Given the description of an element on the screen output the (x, y) to click on. 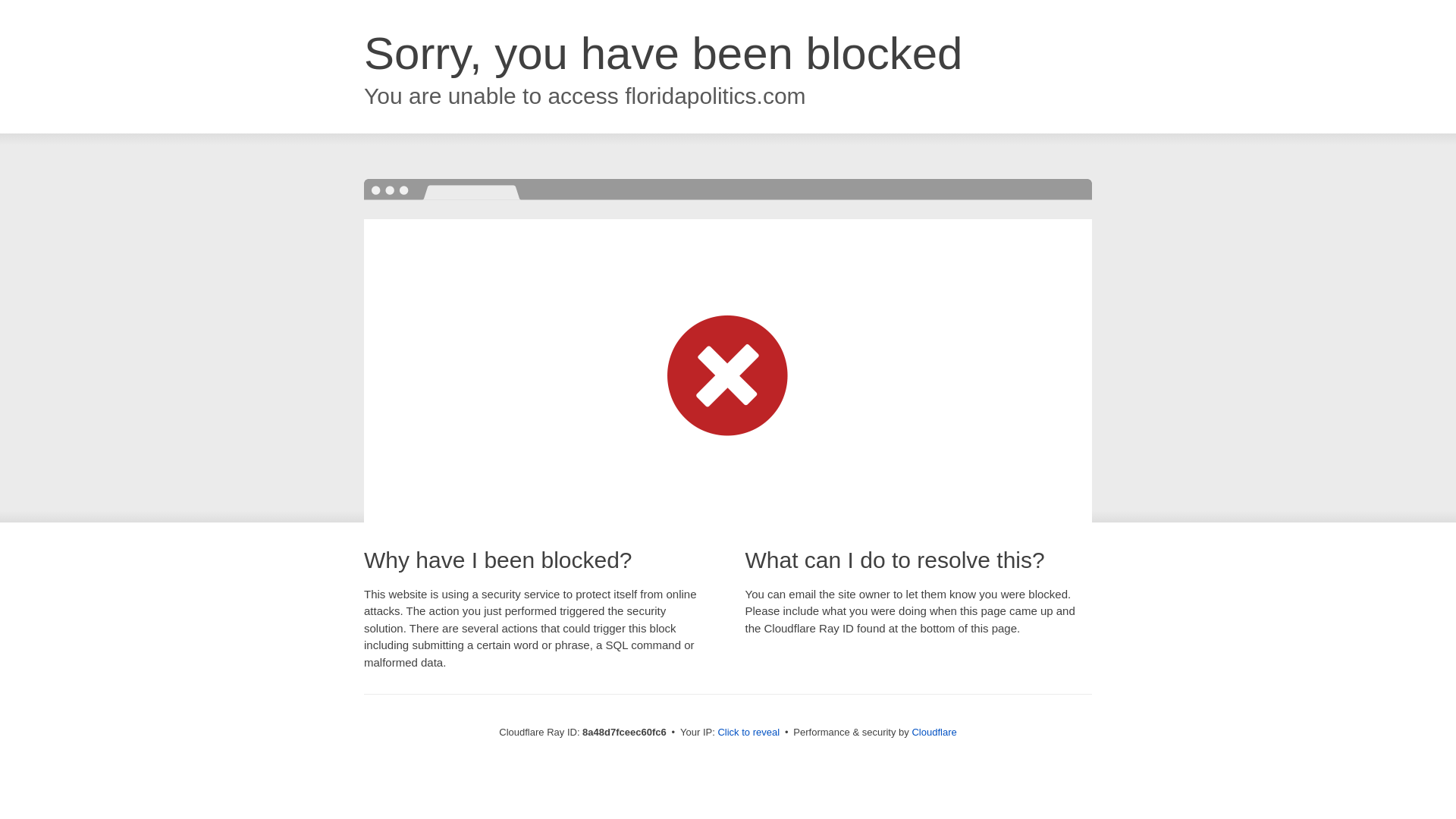
Click to reveal (747, 732)
Cloudflare (933, 731)
